Given the description of an element on the screen output the (x, y) to click on. 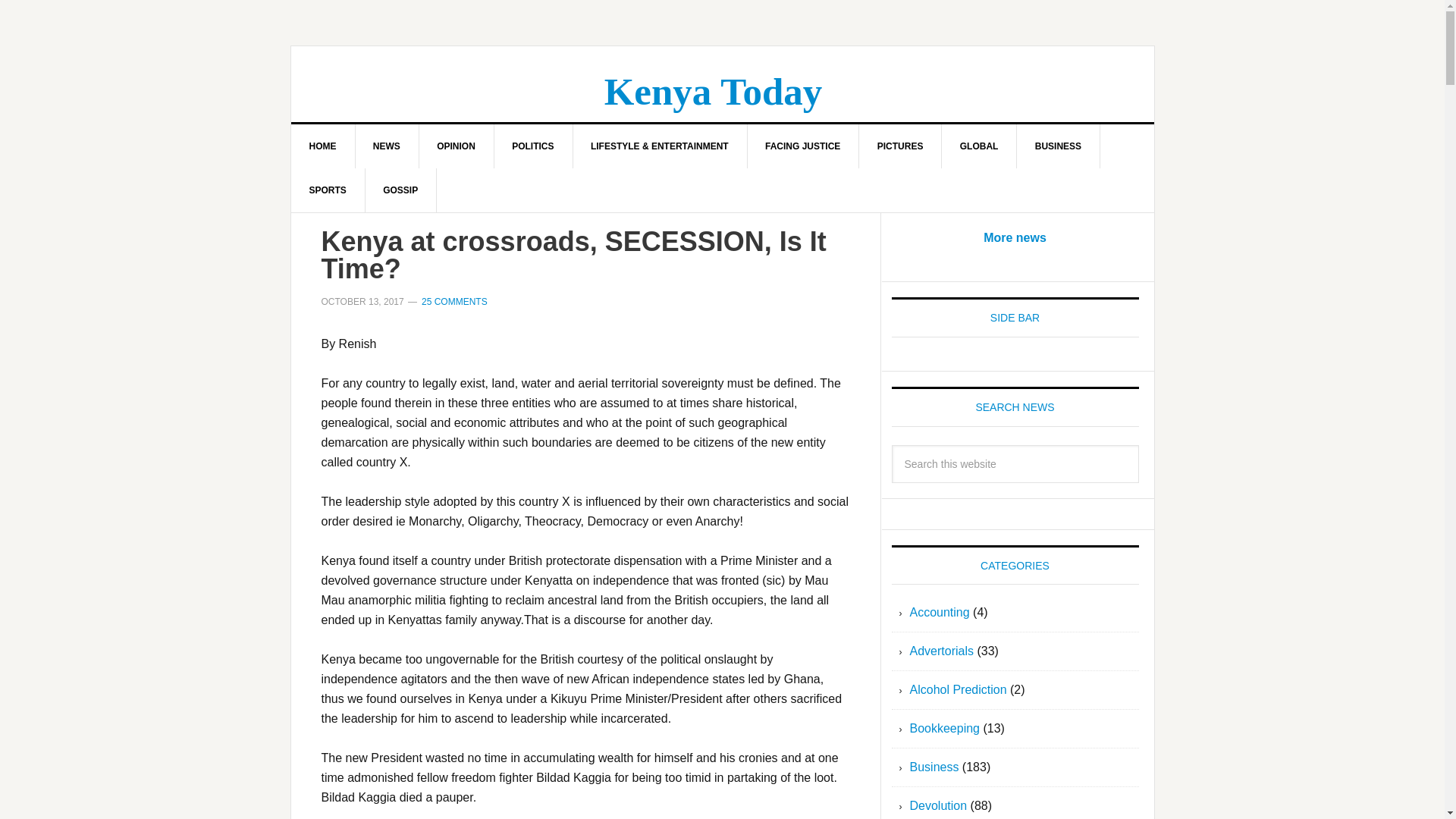
GLOBAL (979, 146)
25 COMMENTS (454, 301)
PICTURES (900, 146)
SPORTS (328, 190)
NEWS (387, 146)
OPINION (457, 146)
GOSSIP (400, 190)
Kenya Today (713, 91)
FACING JUSTICE (802, 146)
HOME (323, 146)
